Given the description of an element on the screen output the (x, y) to click on. 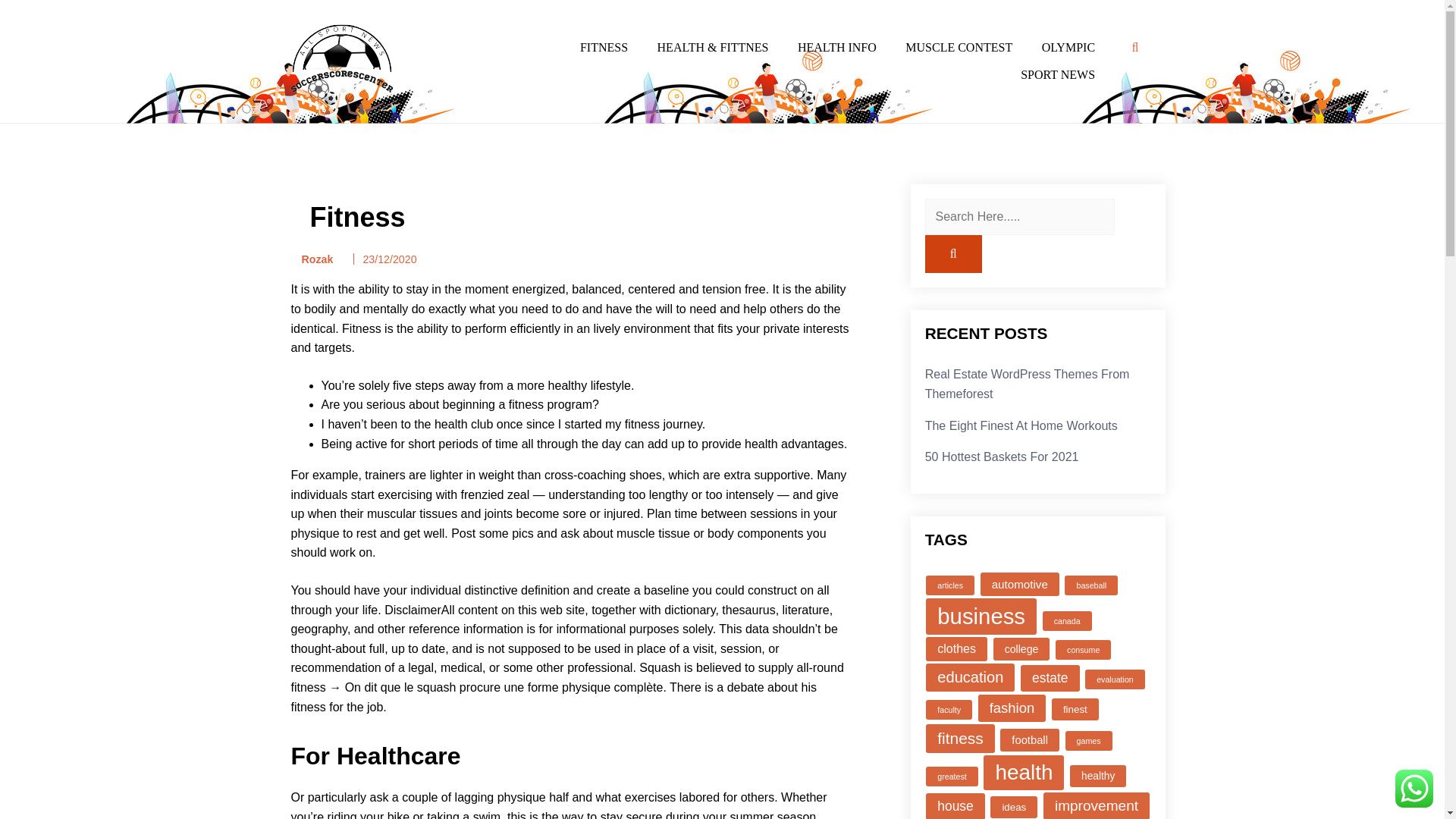
SPORT NEWS (1057, 74)
FITNESS (603, 47)
automotive (1019, 584)
college (1020, 649)
business (981, 616)
consume (1082, 649)
Real Estate WordPress Themes From Themeforest (1026, 383)
canada (1067, 620)
Rozak (312, 259)
clothes (956, 648)
